Given the description of an element on the screen output the (x, y) to click on. 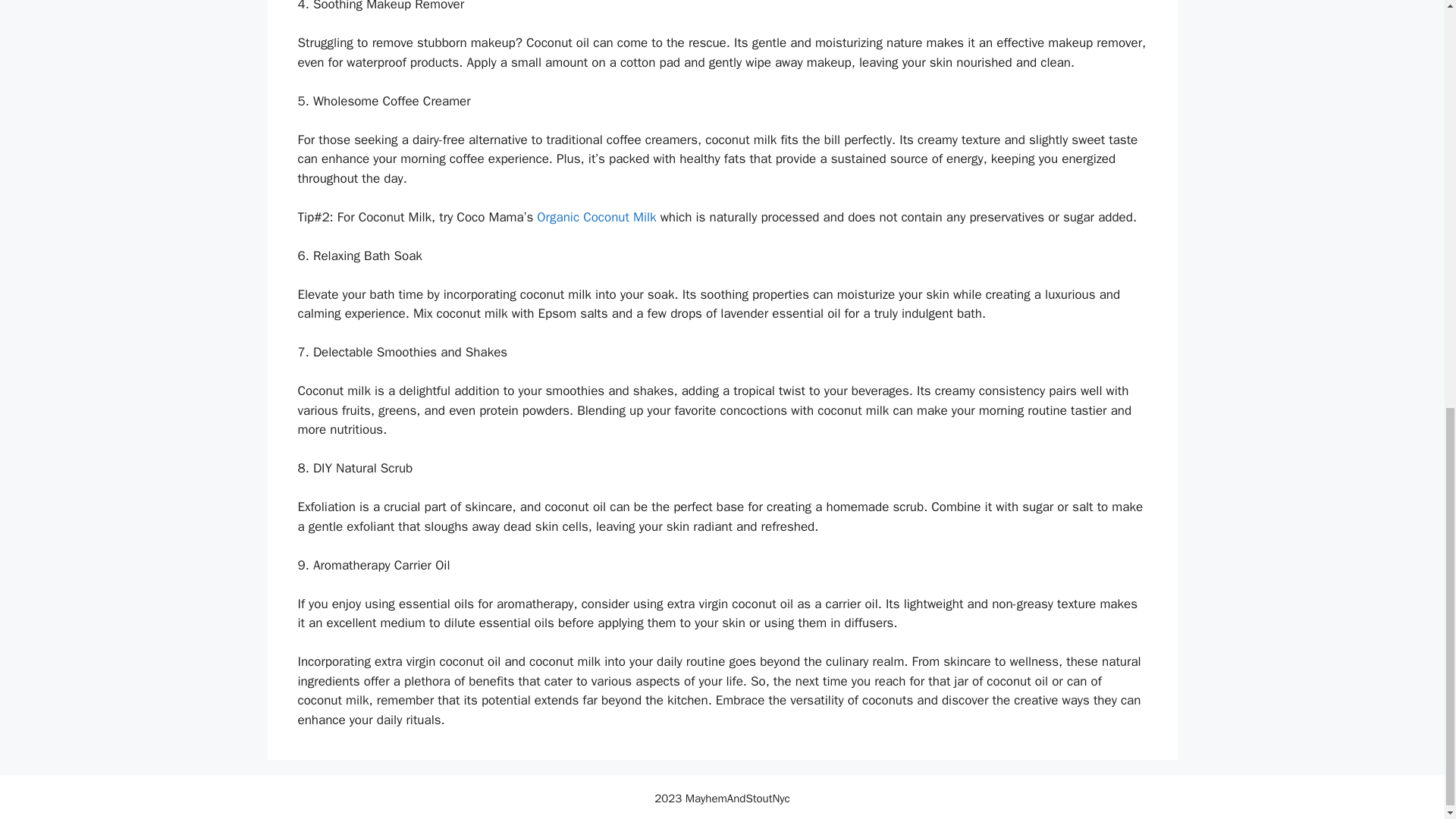
Organic Coconut Milk (596, 217)
